Given the description of an element on the screen output the (x, y) to click on. 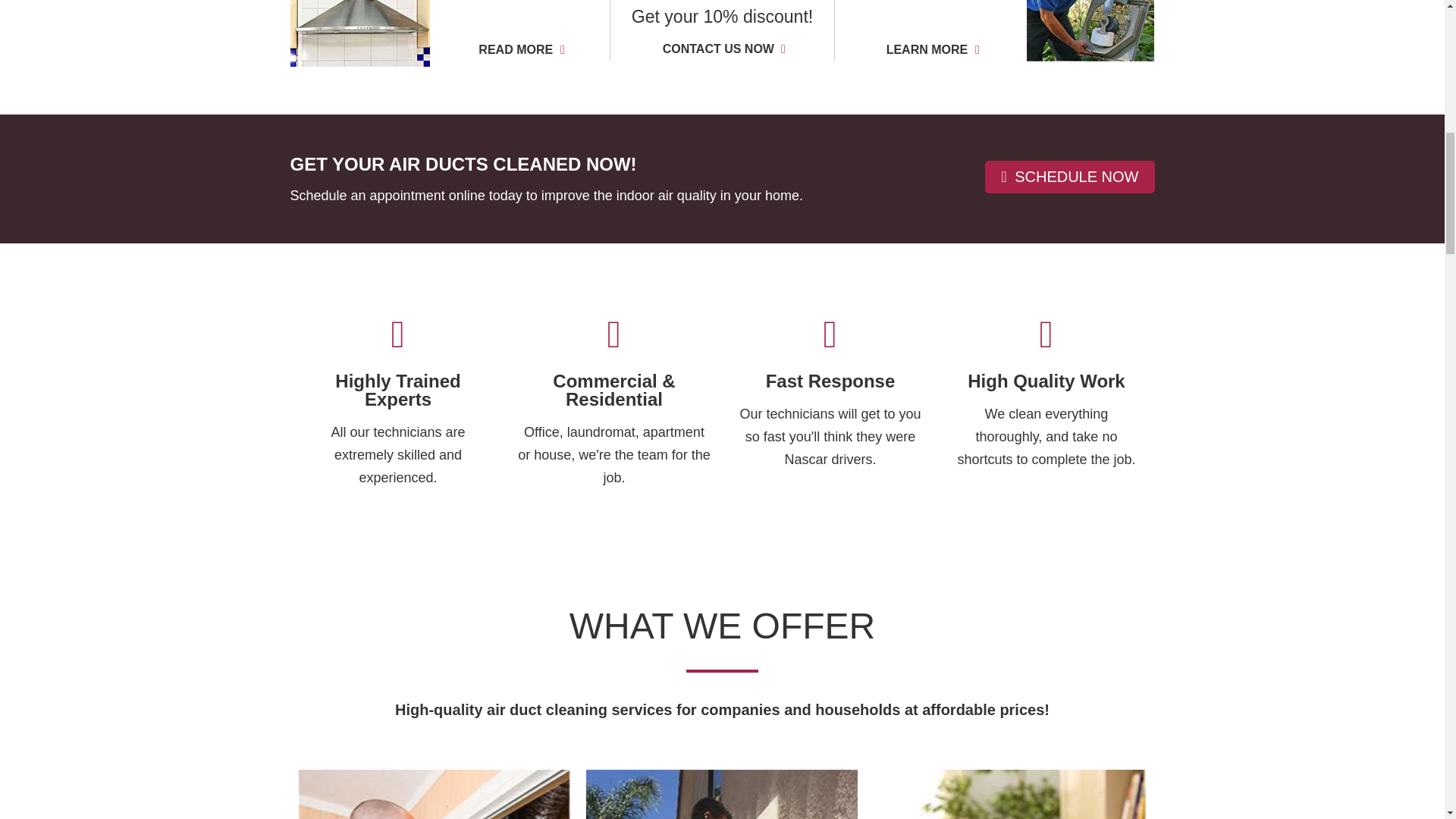
CONTACT US NOW (722, 49)
READ MORE (519, 49)
LEARN MORE (930, 49)
